Given the description of an element on the screen output the (x, y) to click on. 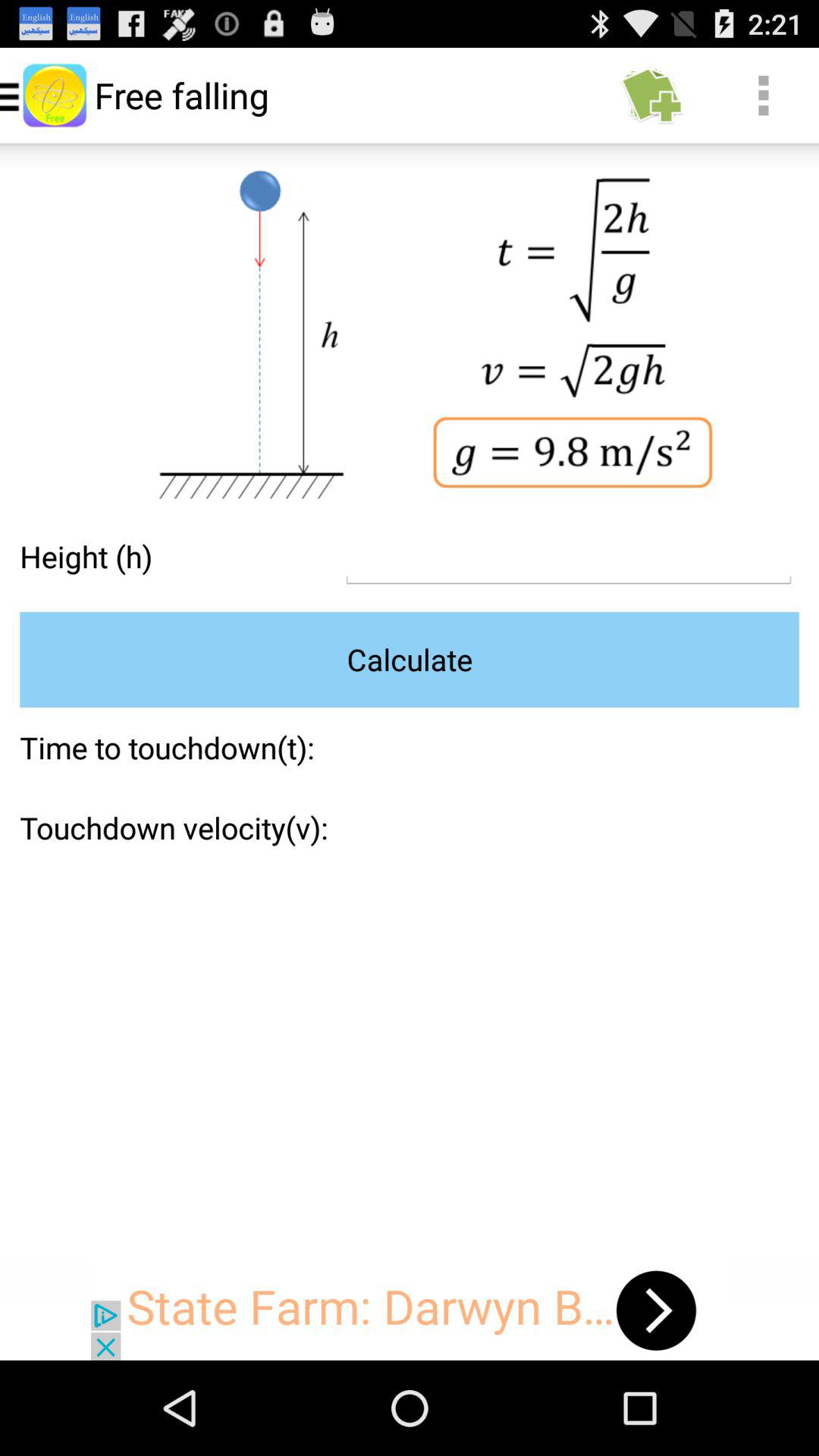
input height (568, 556)
